Given the description of an element on the screen output the (x, y) to click on. 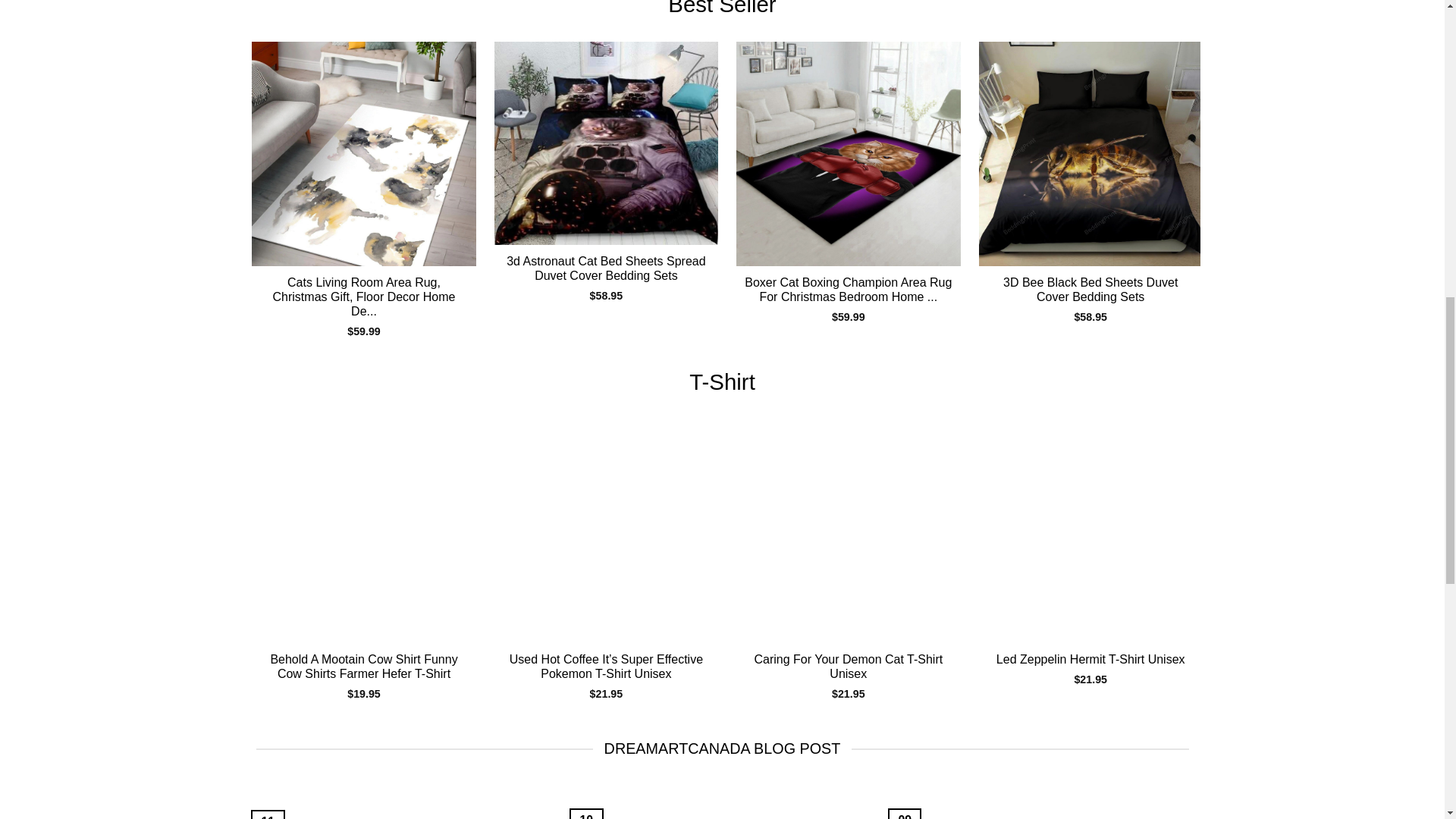
3d Astronaut Cat Bed Sheets Spread Duvet Cover Bedding Sets (606, 142)
3D Bee Black Bed Sheets Duvet Cover Bedding Sets (1091, 289)
3d Astronaut Cat Bed Sheets Spread Duvet Cover Bedding Sets (606, 267)
3D Bee Black Bed Sheets Duvet Cover Bedding Sets (1090, 153)
